Given the description of an element on the screen output the (x, y) to click on. 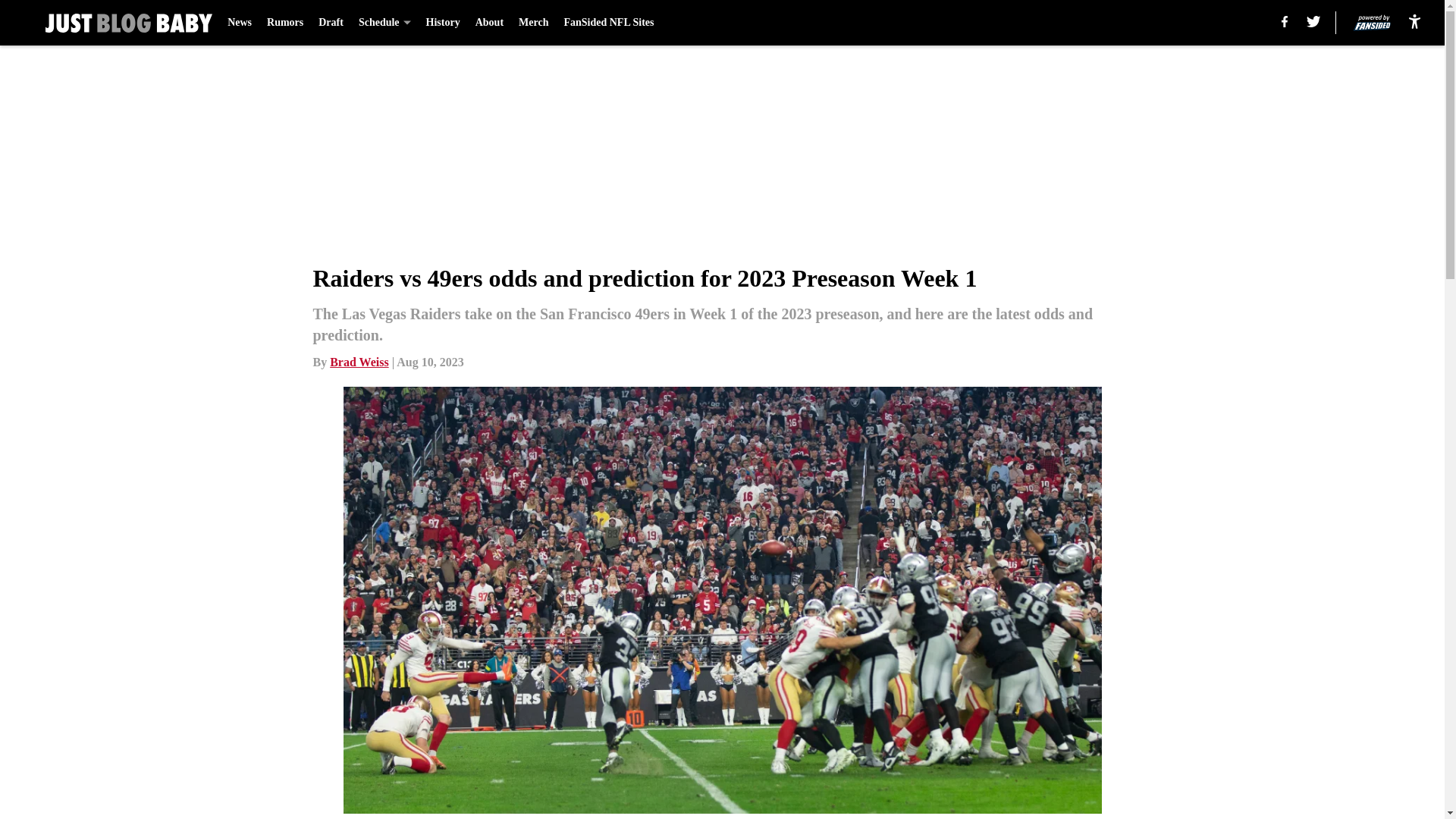
About (489, 22)
Merch (533, 22)
Brad Weiss (359, 361)
News (239, 22)
Draft (330, 22)
Rumors (284, 22)
FanSided NFL Sites (608, 22)
History (443, 22)
